Given the description of an element on the screen output the (x, y) to click on. 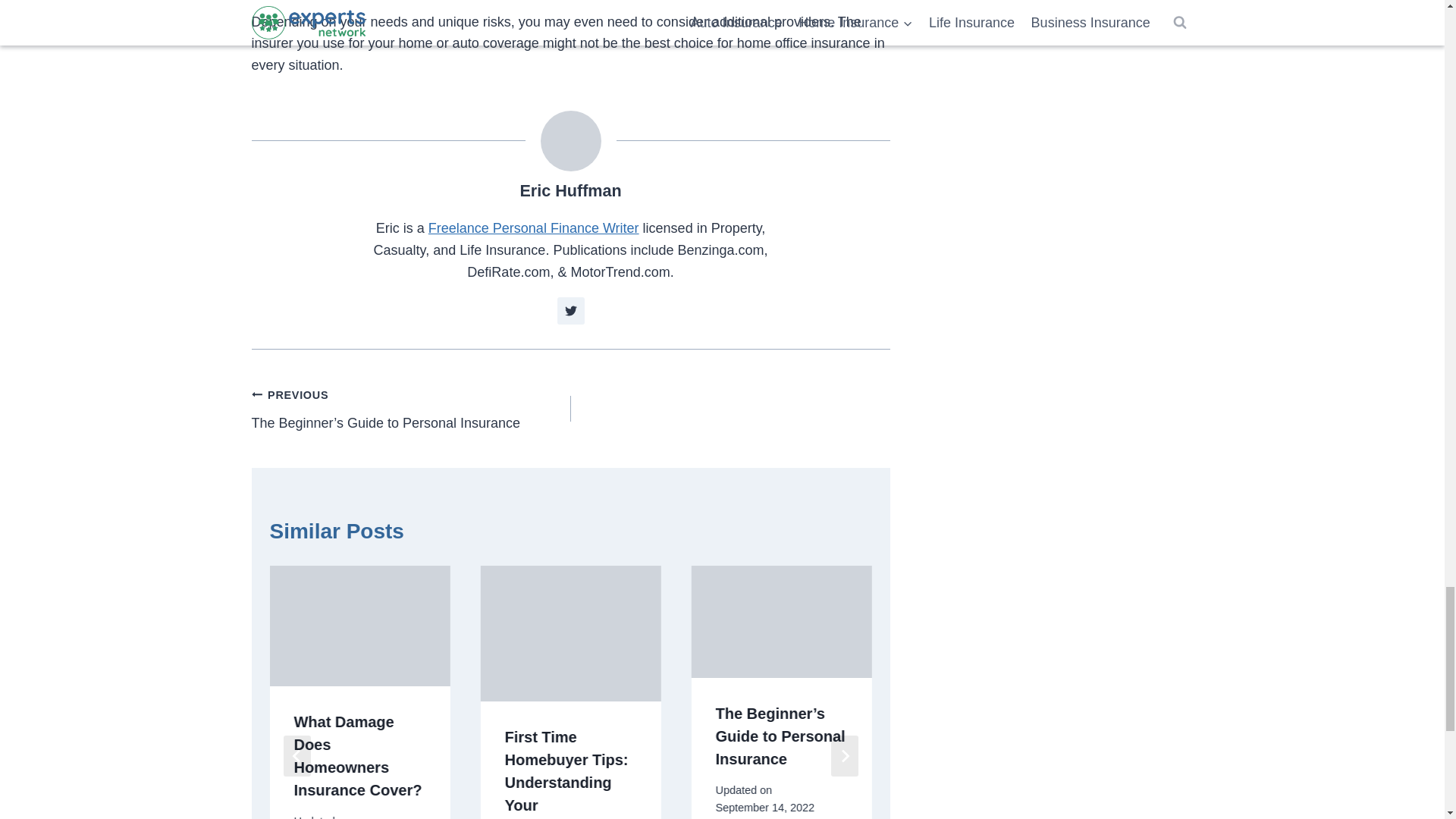
Posts by Eric Huffman (570, 189)
New Jersey Freelance Writer (533, 227)
Freelance Personal Finance Writer (533, 227)
Follow Eric Huffman on Twitter (571, 310)
Eric Huffman (570, 189)
